Given the description of an element on the screen output the (x, y) to click on. 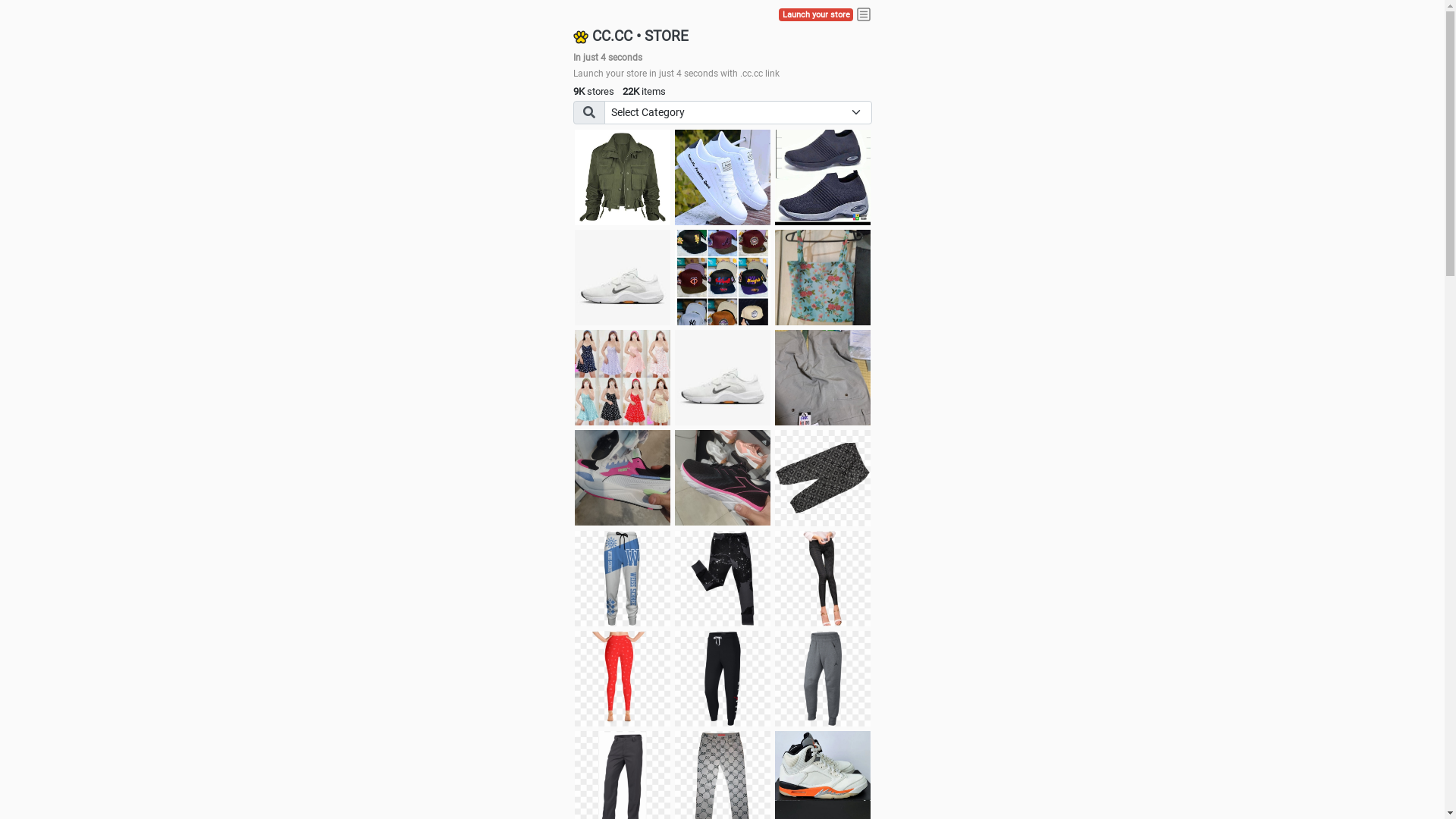
Pant Element type: hover (622, 678)
Ukay cloth Element type: hover (822, 277)
Zapatillas Element type: hover (722, 477)
Launch your store Element type: text (815, 14)
Pant Element type: hover (722, 578)
Pant Element type: hover (722, 678)
Dress/square nect top Element type: hover (622, 377)
Things we need Element type: hover (722, 277)
Pant Element type: hover (822, 678)
Zapatillas pumas Element type: hover (622, 477)
shoes for boys Element type: hover (822, 177)
Short pant Element type: hover (822, 477)
white shoes Element type: hover (722, 177)
Shoes for boys Element type: hover (622, 277)
Shoes Element type: hover (722, 377)
Pant Element type: hover (622, 578)
jacket Element type: hover (622, 177)
Pant Element type: hover (822, 578)
